Given the description of an element on the screen output the (x, y) to click on. 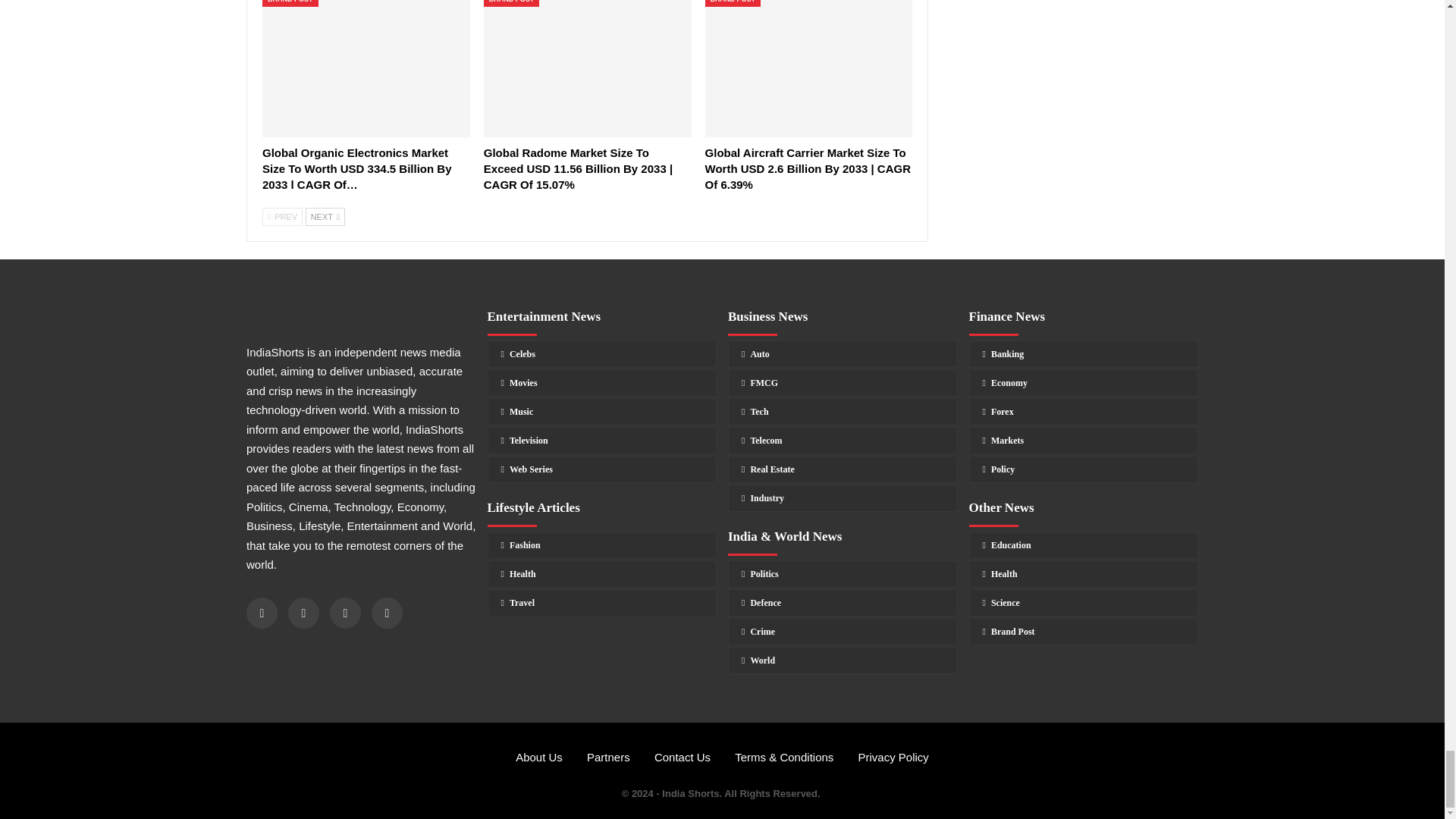
Previous (282, 217)
Next (325, 217)
